Given the description of an element on the screen output the (x, y) to click on. 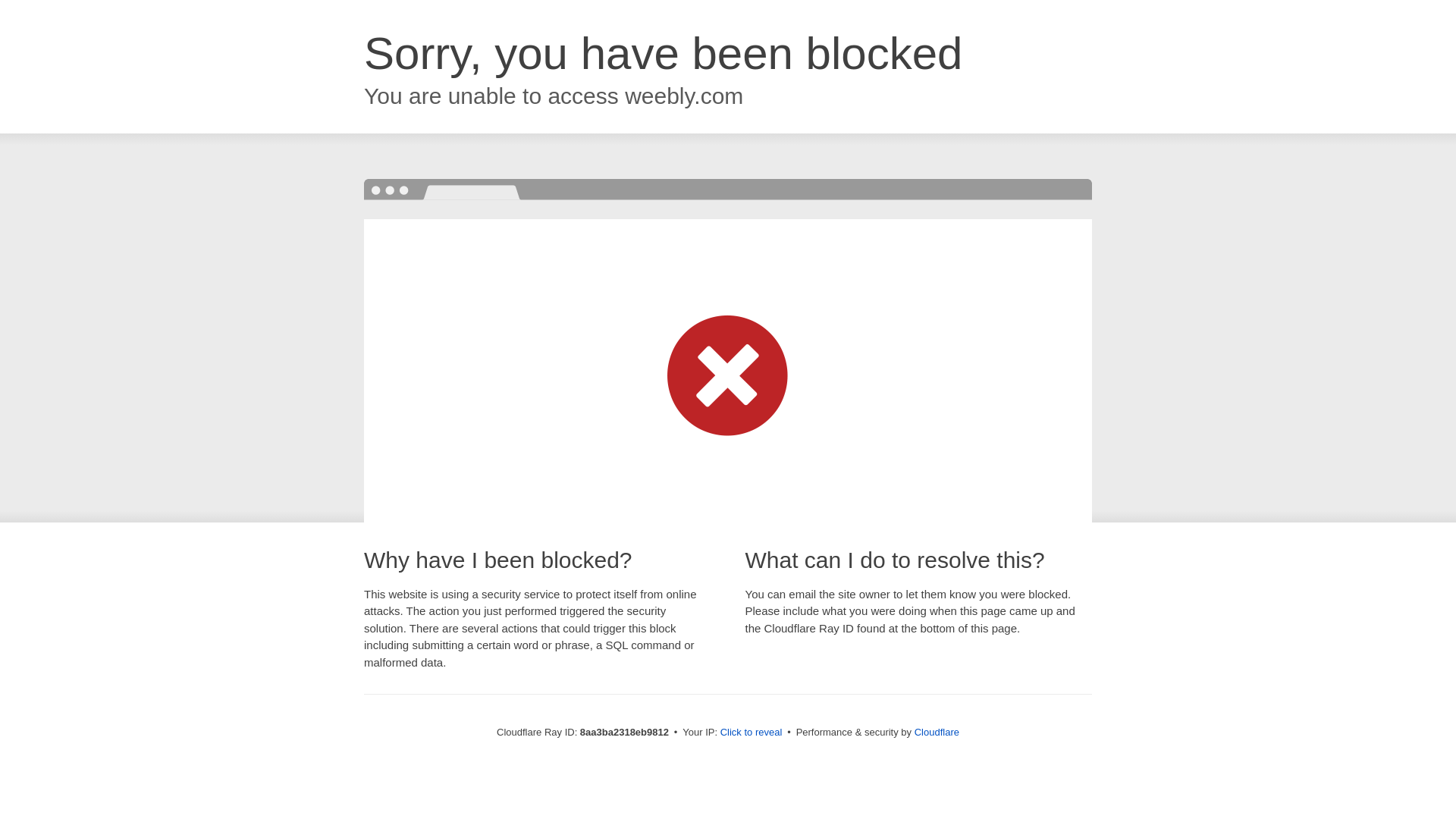
Click to reveal (751, 732)
Cloudflare (936, 731)
